Given the description of an element on the screen output the (x, y) to click on. 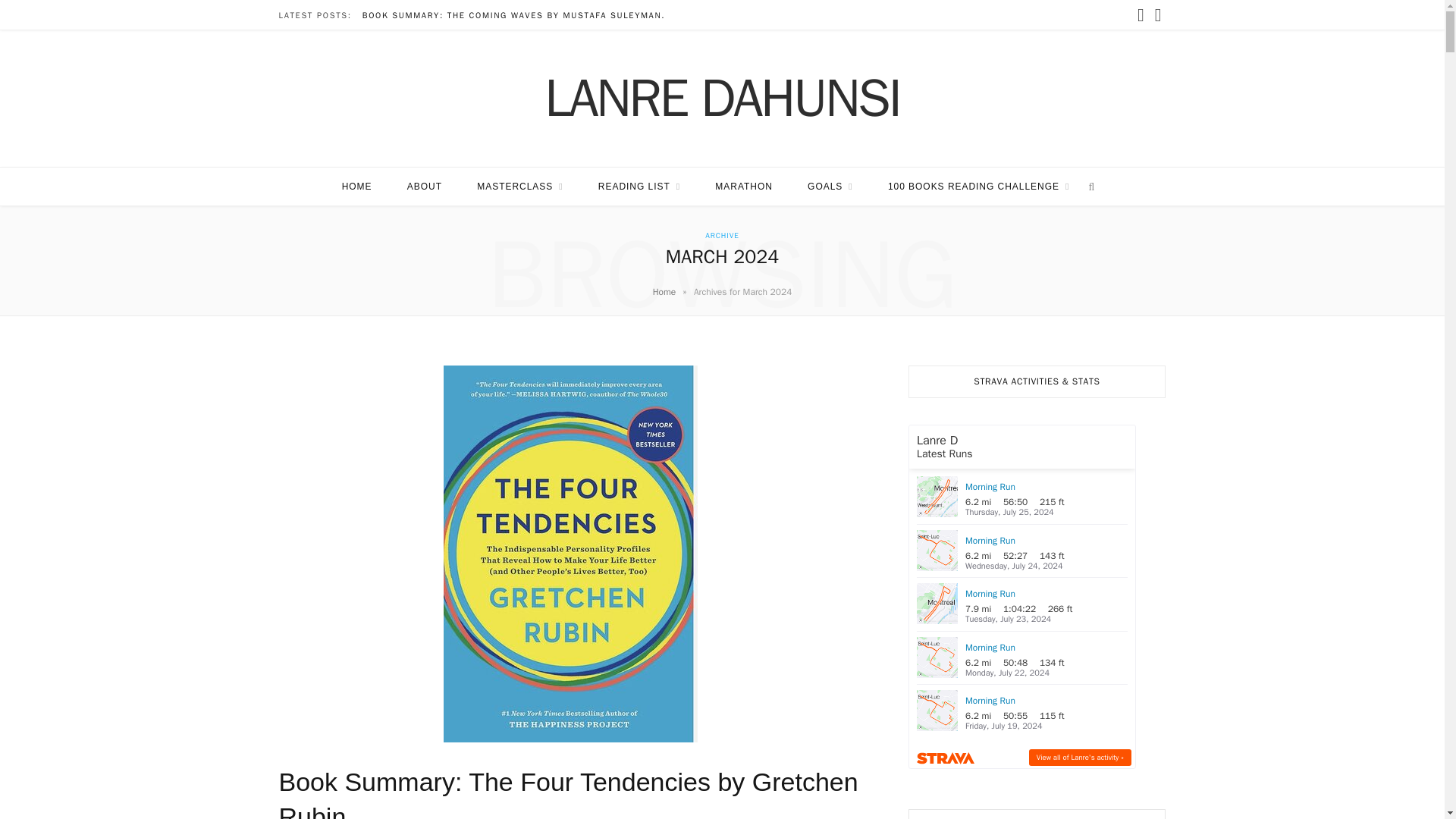
MASTERCLASS (519, 186)
MARATHON (742, 186)
Book Summary: The Four Tendencies by Gretchen Rubin. (569, 793)
BOOK SUMMARY: THE COMING WAVES BY MUSTAFA SULEYMAN. (517, 14)
READING LIST (638, 186)
ABOUT (424, 186)
HOME (357, 186)
GOALS (830, 186)
100 BOOKS READING CHALLENGE (978, 186)
Book Summary: The Coming Waves by Mustafa Suleyman. (517, 14)
Lanre Dahunsi (721, 98)
Home (664, 291)
LANRE DAHUNSI (721, 98)
